Given the description of an element on the screen output the (x, y) to click on. 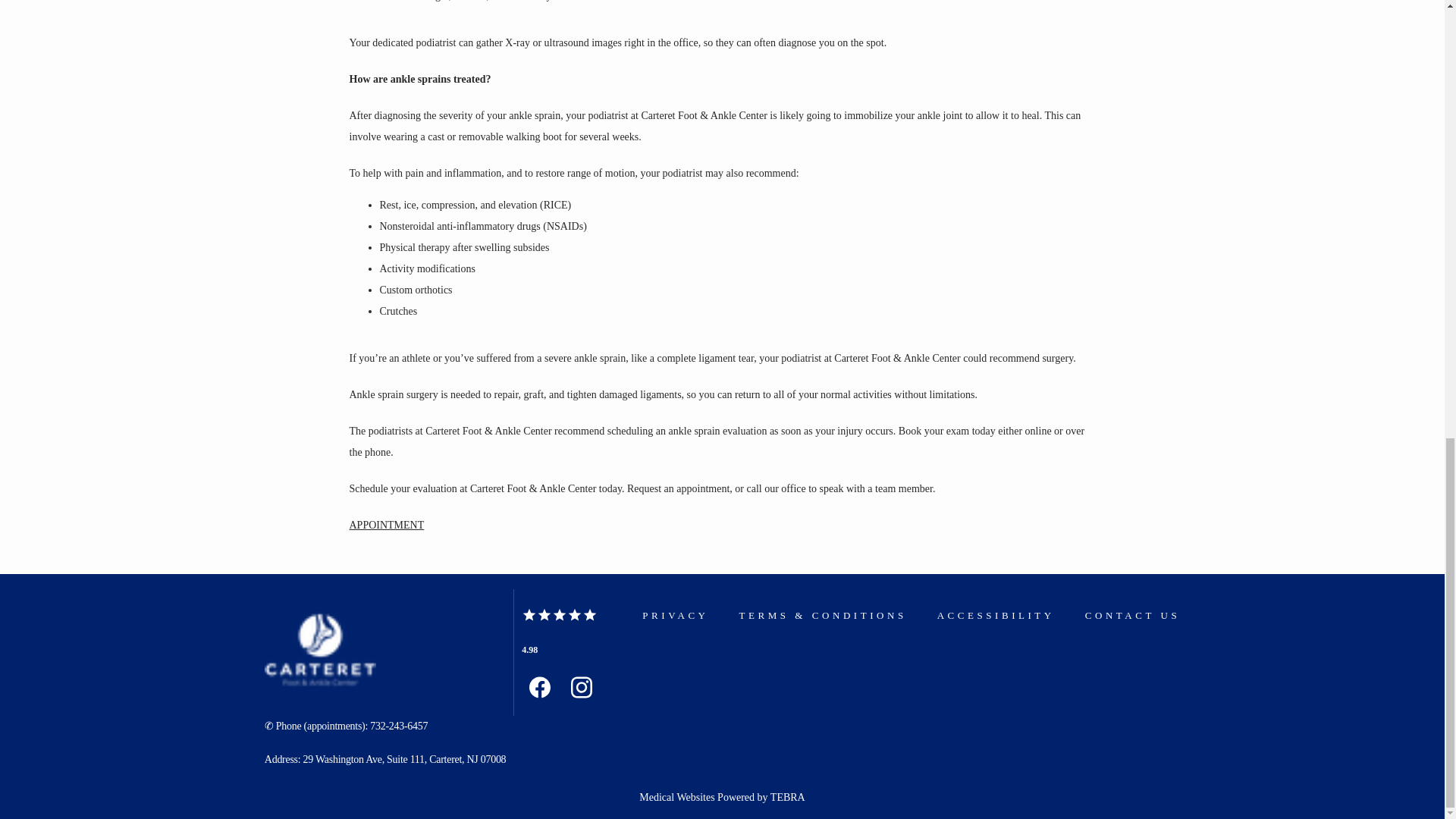
ACCESSIBILITY (995, 614)
CONTACT US (1131, 614)
TEBRA (787, 797)
PRIVACY (674, 614)
APPOINTMENT (386, 524)
